Given the description of an element on the screen output the (x, y) to click on. 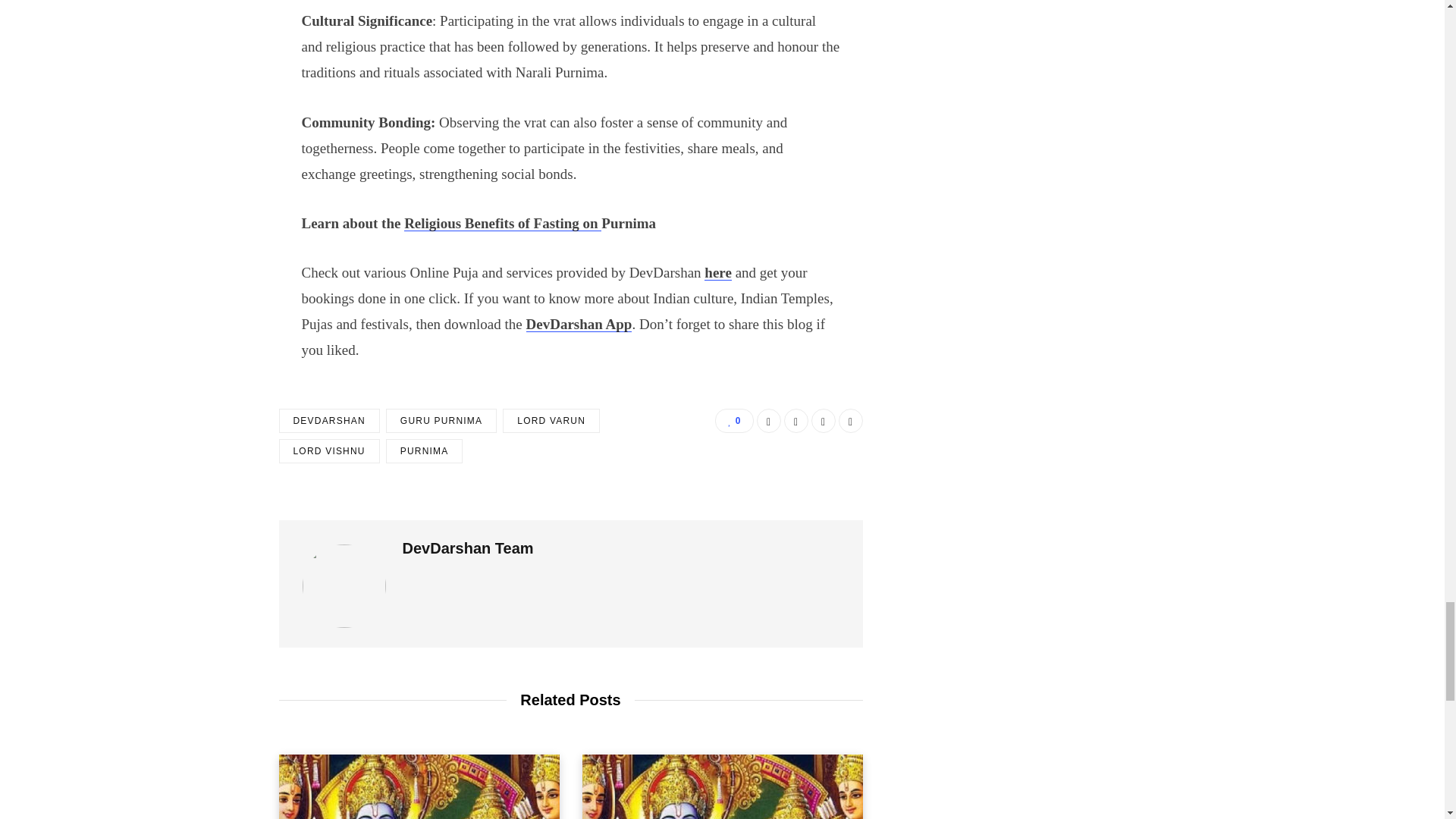
GURU PURNIMA (440, 420)
LORD VISHNU (329, 450)
PURNIMA (424, 450)
here (718, 272)
DEVDARSHAN (329, 420)
LORD VARUN (550, 420)
DevDarshan App (578, 324)
Religious Benefits of Fasting on (502, 222)
